Given the description of an element on the screen output the (x, y) to click on. 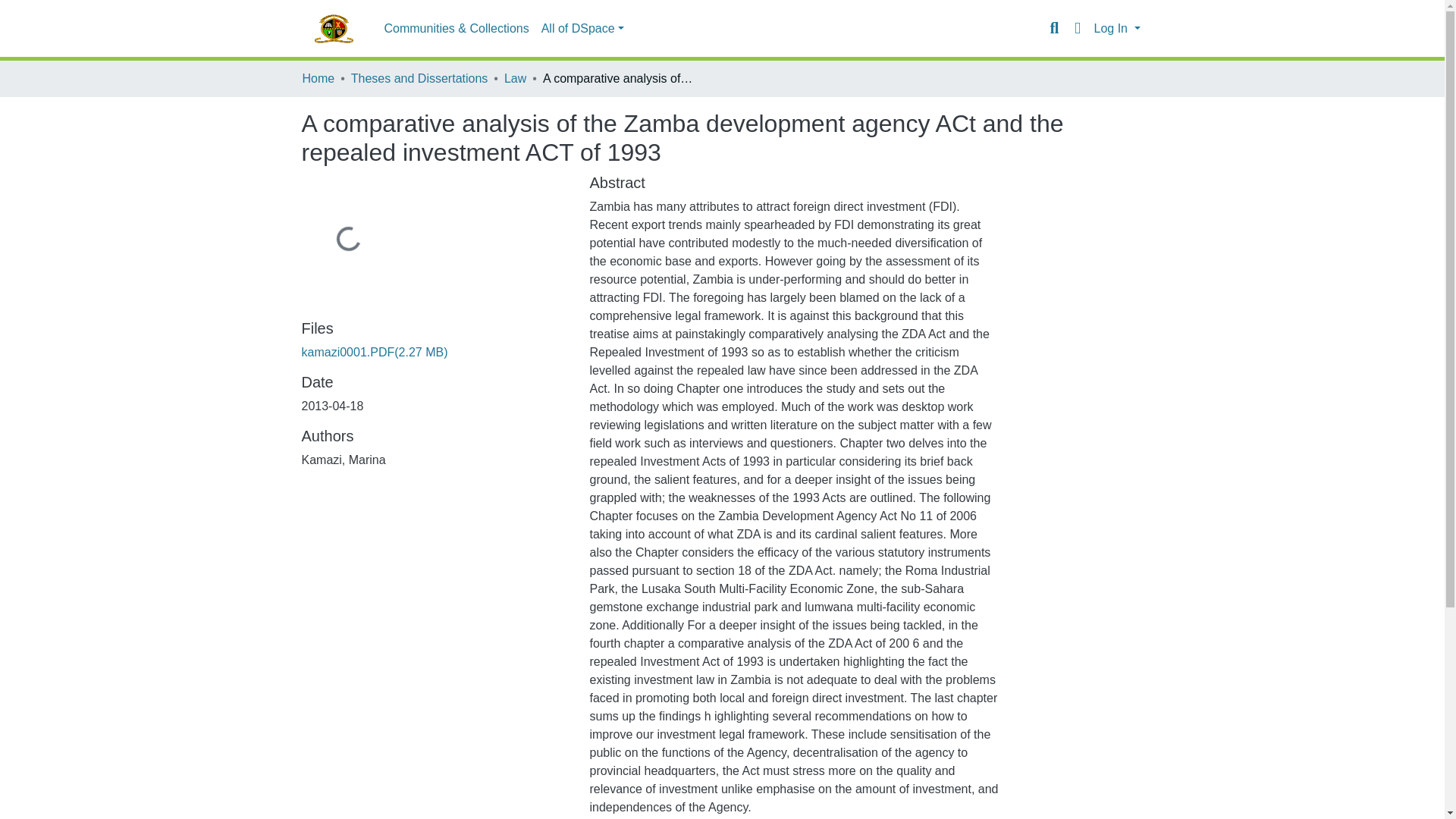
All of DSpace (582, 28)
Law (514, 78)
Search (1053, 28)
Log In (1116, 28)
Home (317, 78)
Language switch (1077, 28)
Theses and Dissertations (418, 78)
